Given the description of an element on the screen output the (x, y) to click on. 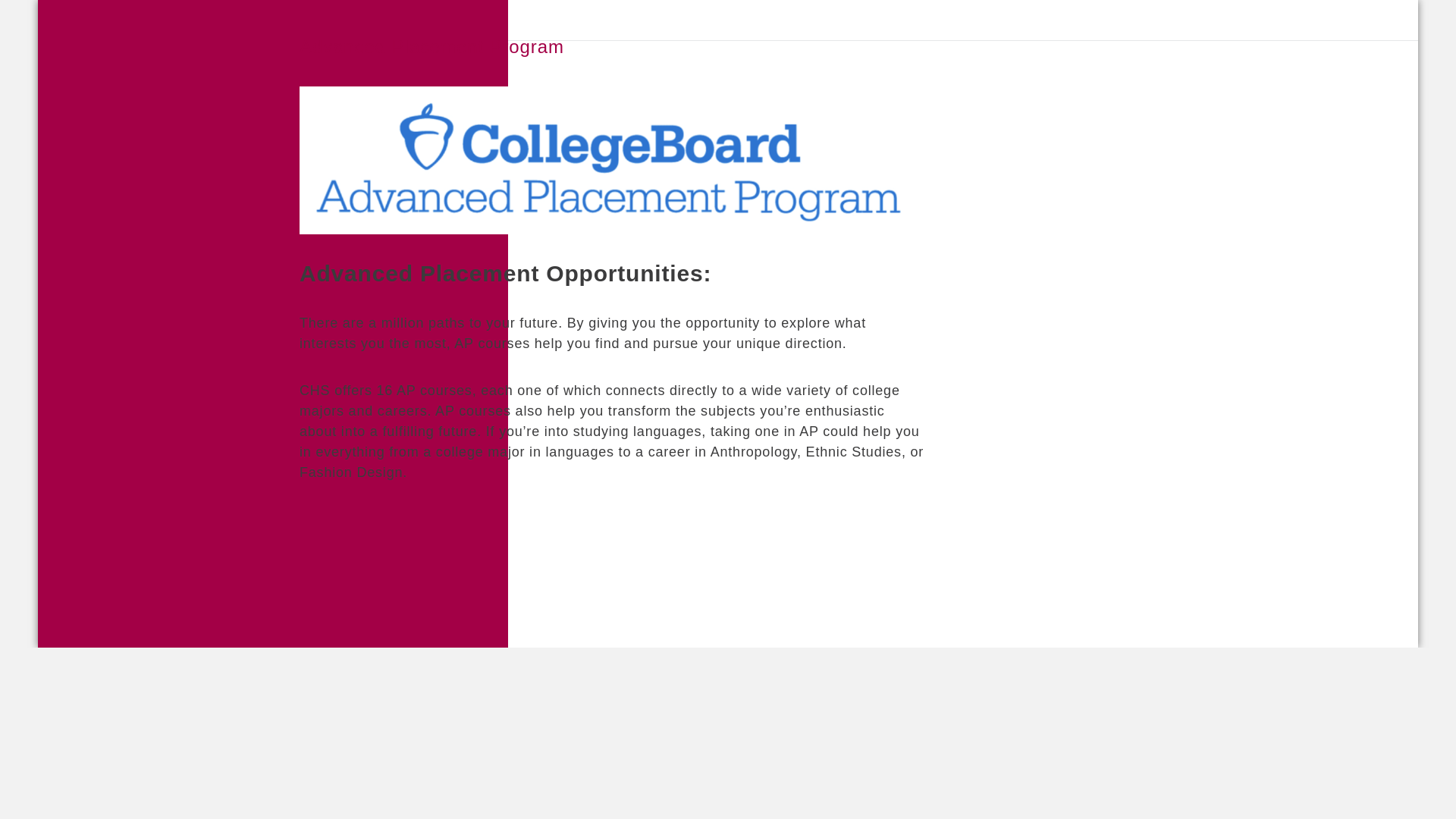
College Board Advanced Placement Program (611, 160)
